Given the description of an element on the screen output the (x, y) to click on. 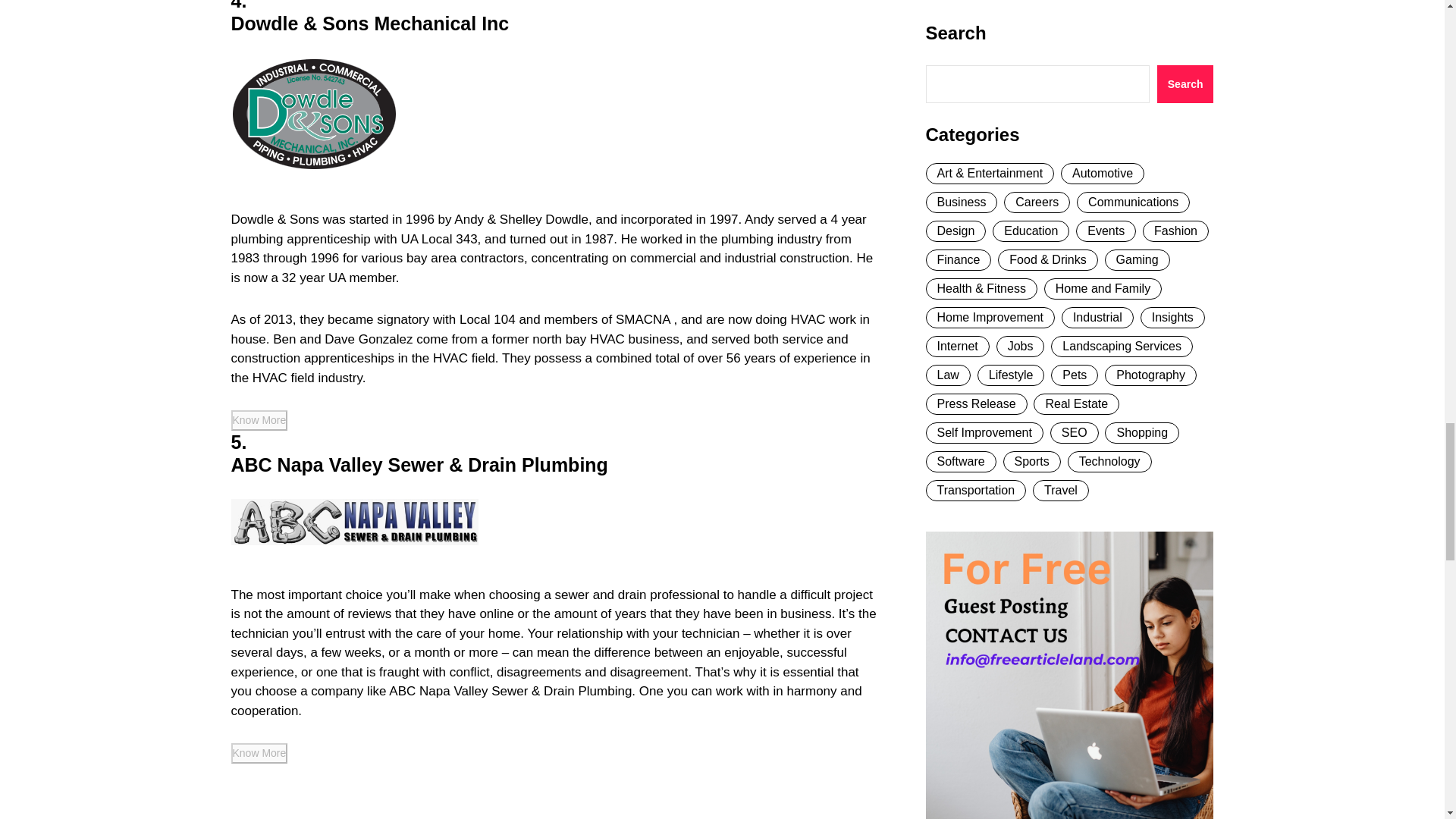
Dowdle Sons Mechanical Logo (313, 113)
Abc Napa Valley Logo (353, 521)
